Given the description of an element on the screen output the (x, y) to click on. 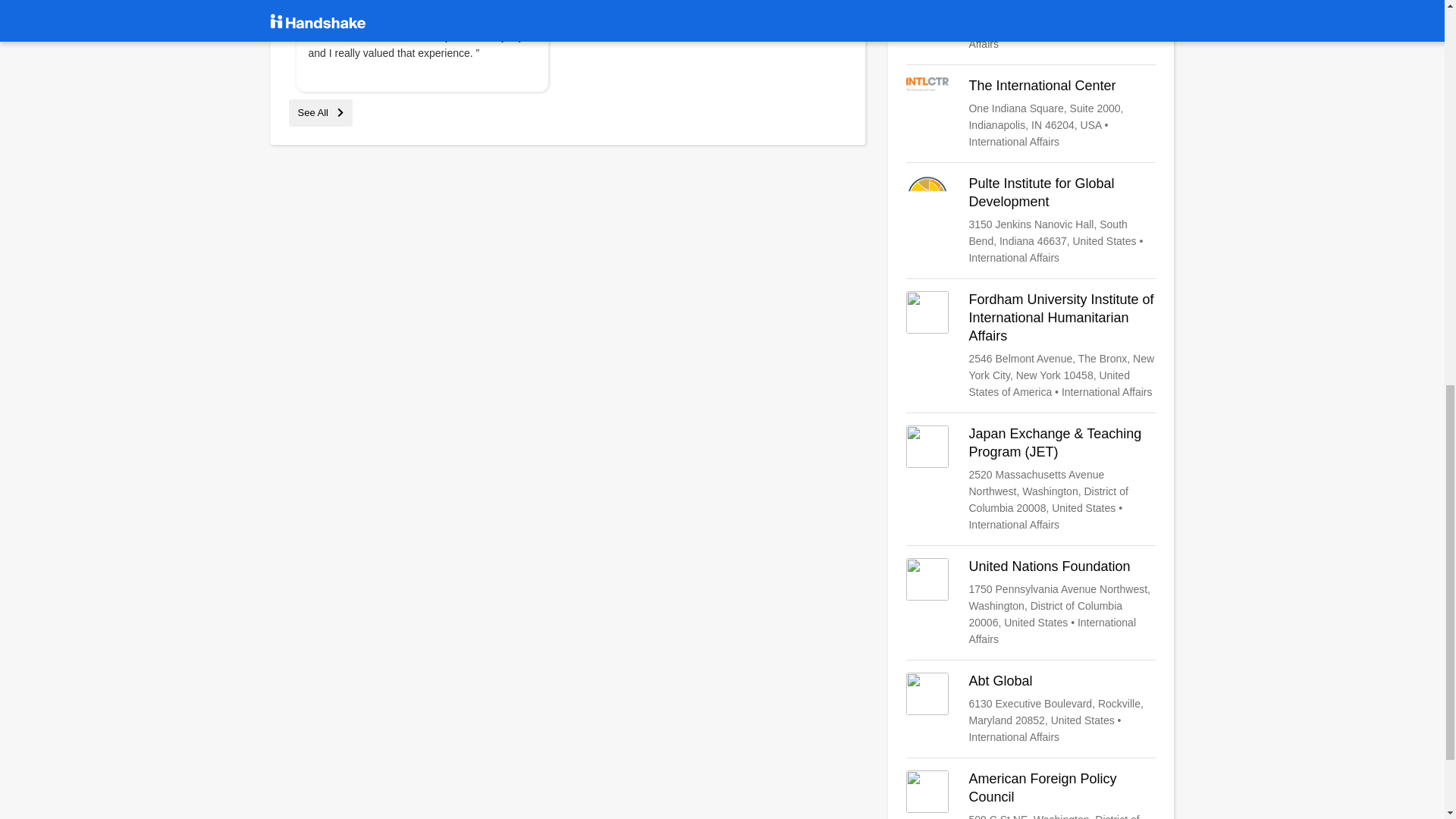
Pulte Institute for Global Development (1030, 220)
The International Center (1030, 112)
Walter H. Shorenstein Asia-Pacific Research Center (1030, 26)
American Foreign Policy Council (1030, 794)
See All (320, 112)
United Nations Foundation (1030, 602)
Abt Global (1030, 708)
